Given the description of an element on the screen output the (x, y) to click on. 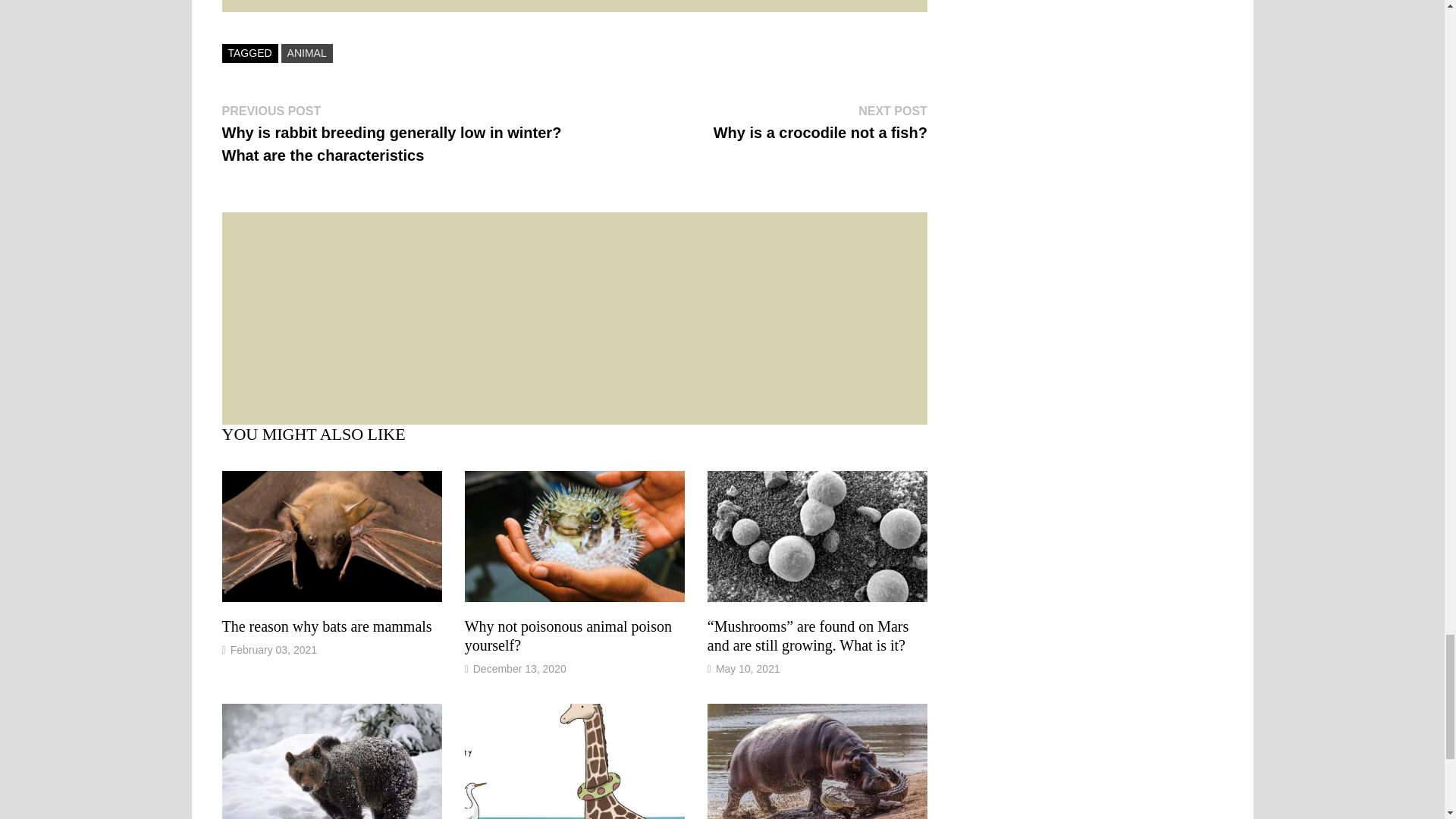
December 13, 2020 (519, 668)
The reason why bats are mammals (325, 626)
Why not poisonous animal poison yourself? (567, 635)
Why not poisonous animal poison yourself? (567, 635)
ANIMAL (307, 53)
May 10, 2021 (820, 121)
The reason why bats are mammals (748, 668)
February 03, 2021 (325, 626)
